Given the description of an element on the screen output the (x, y) to click on. 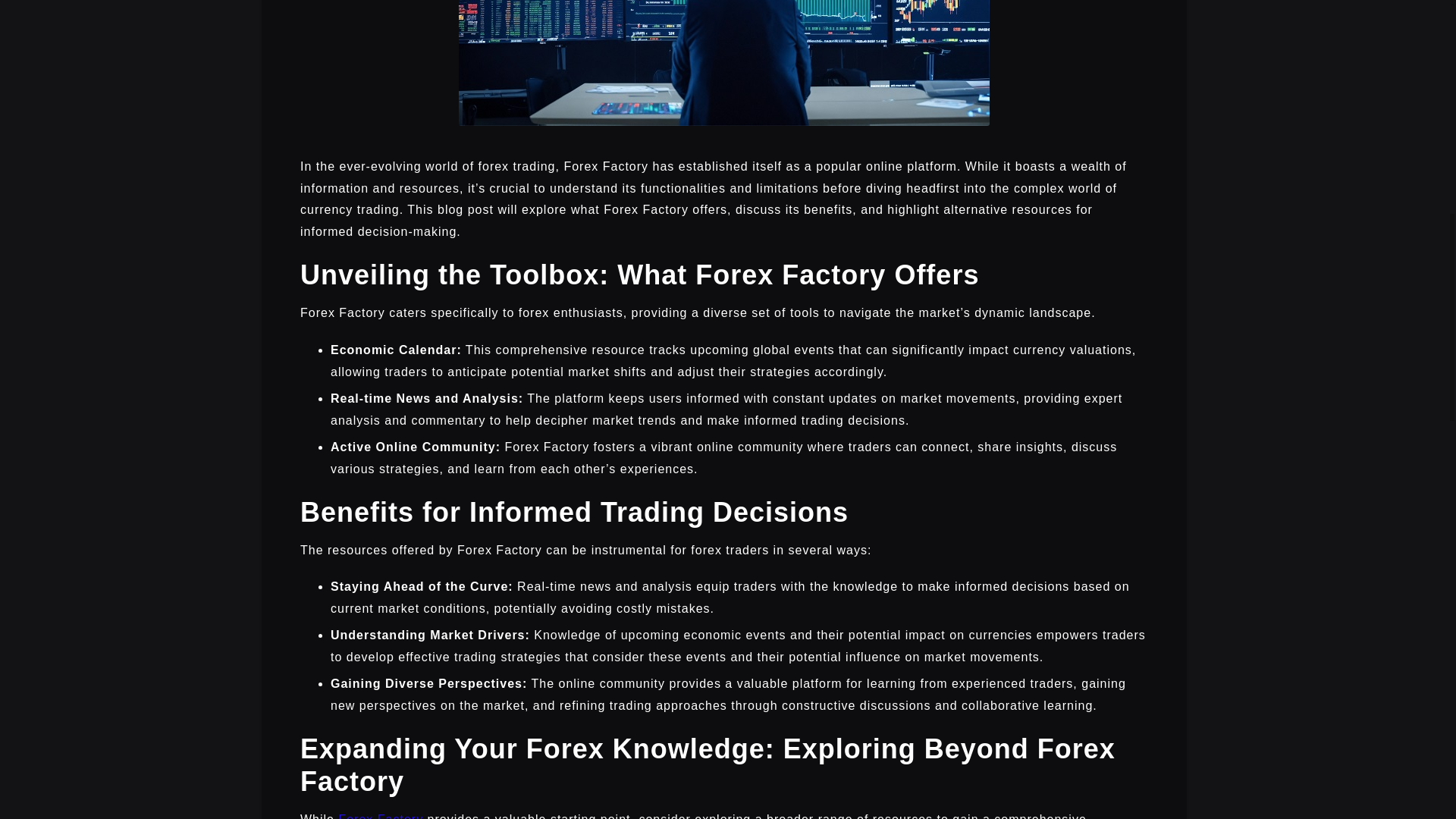
Forex Factory (380, 816)
